Given the description of an element on the screen output the (x, y) to click on. 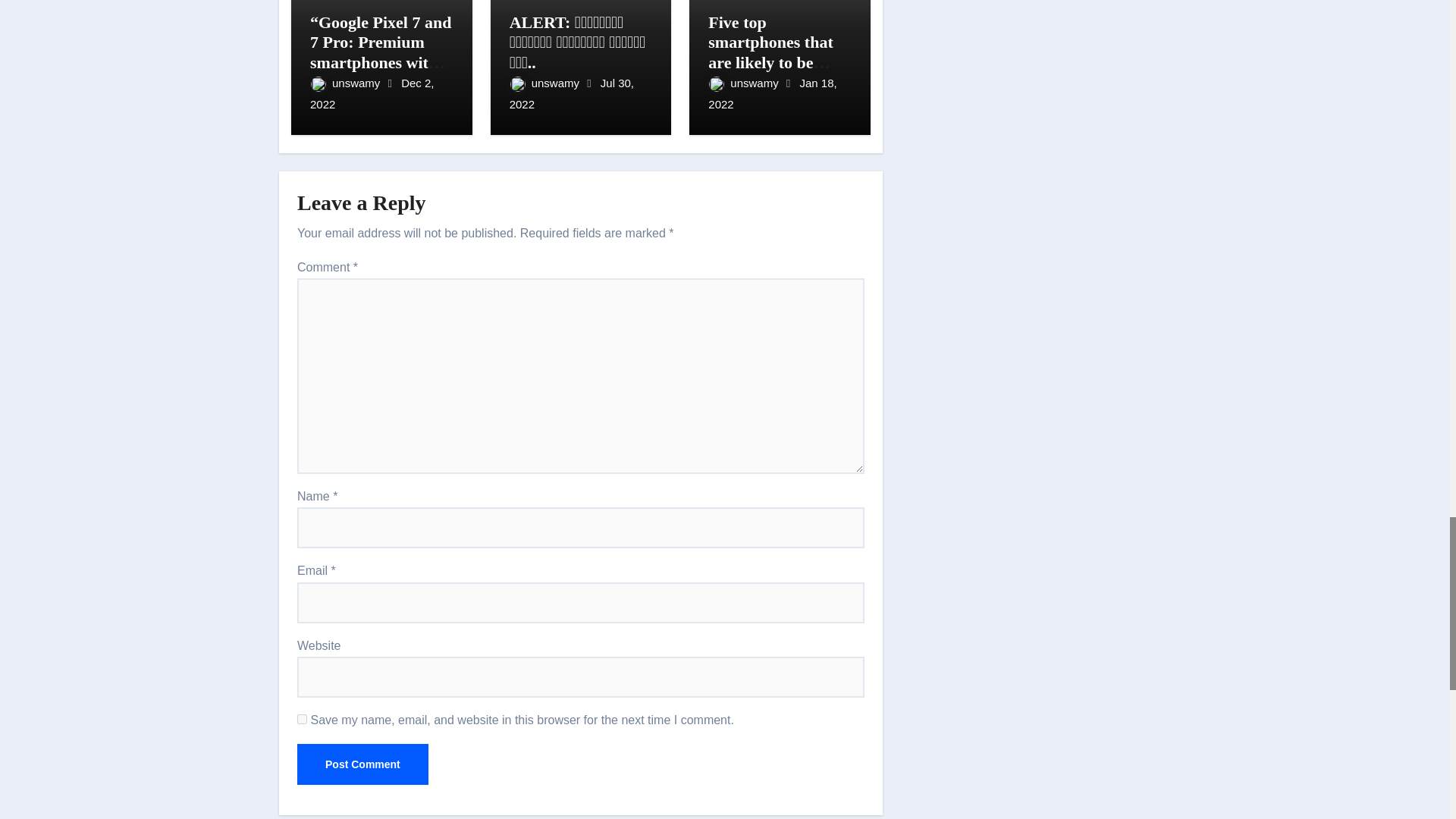
yes (302, 718)
Post Comment (362, 763)
